Given the description of an element on the screen output the (x, y) to click on. 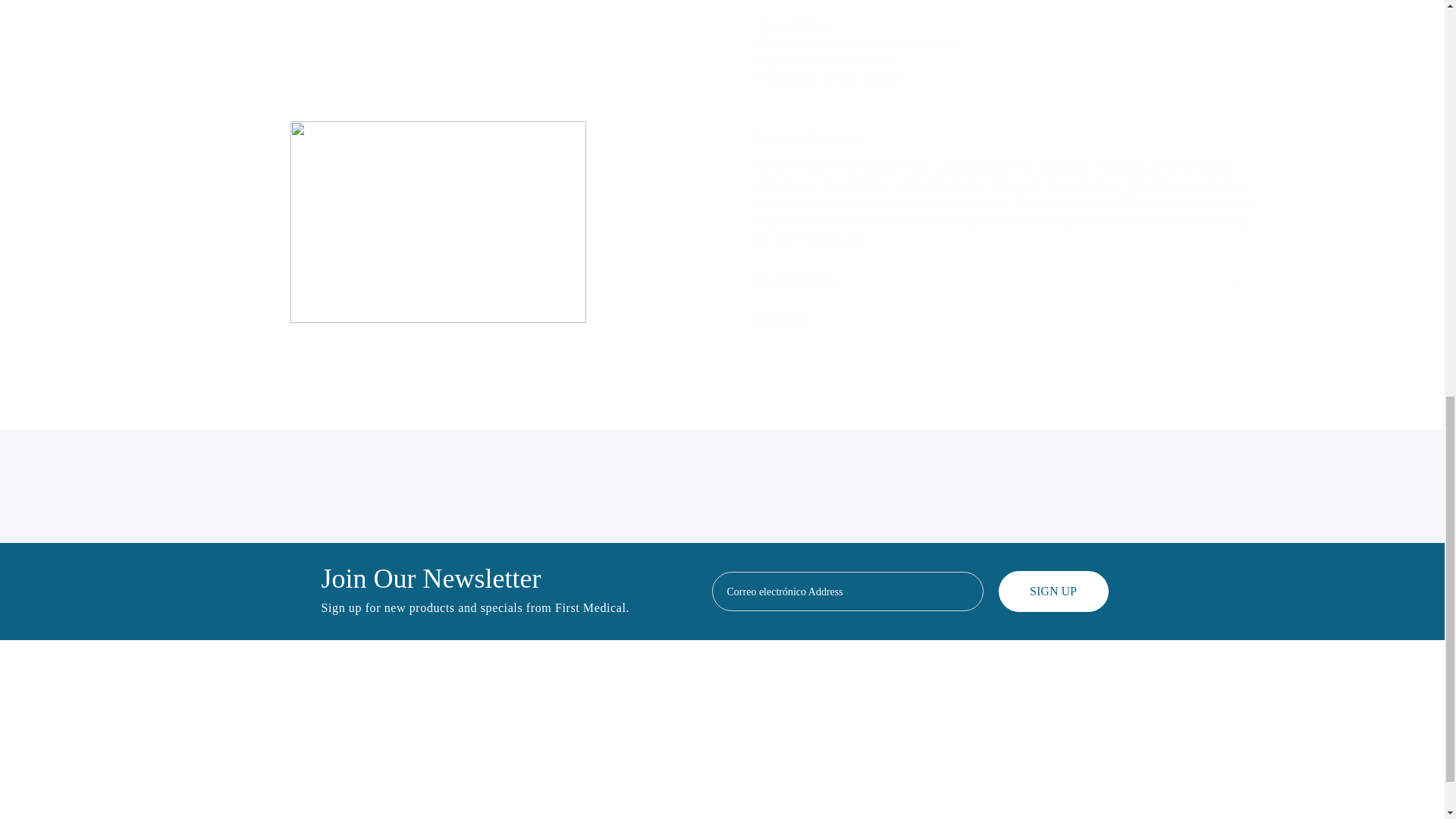
First Medical International Google Maps Location (256, 762)
